Given the description of an element on the screen output the (x, y) to click on. 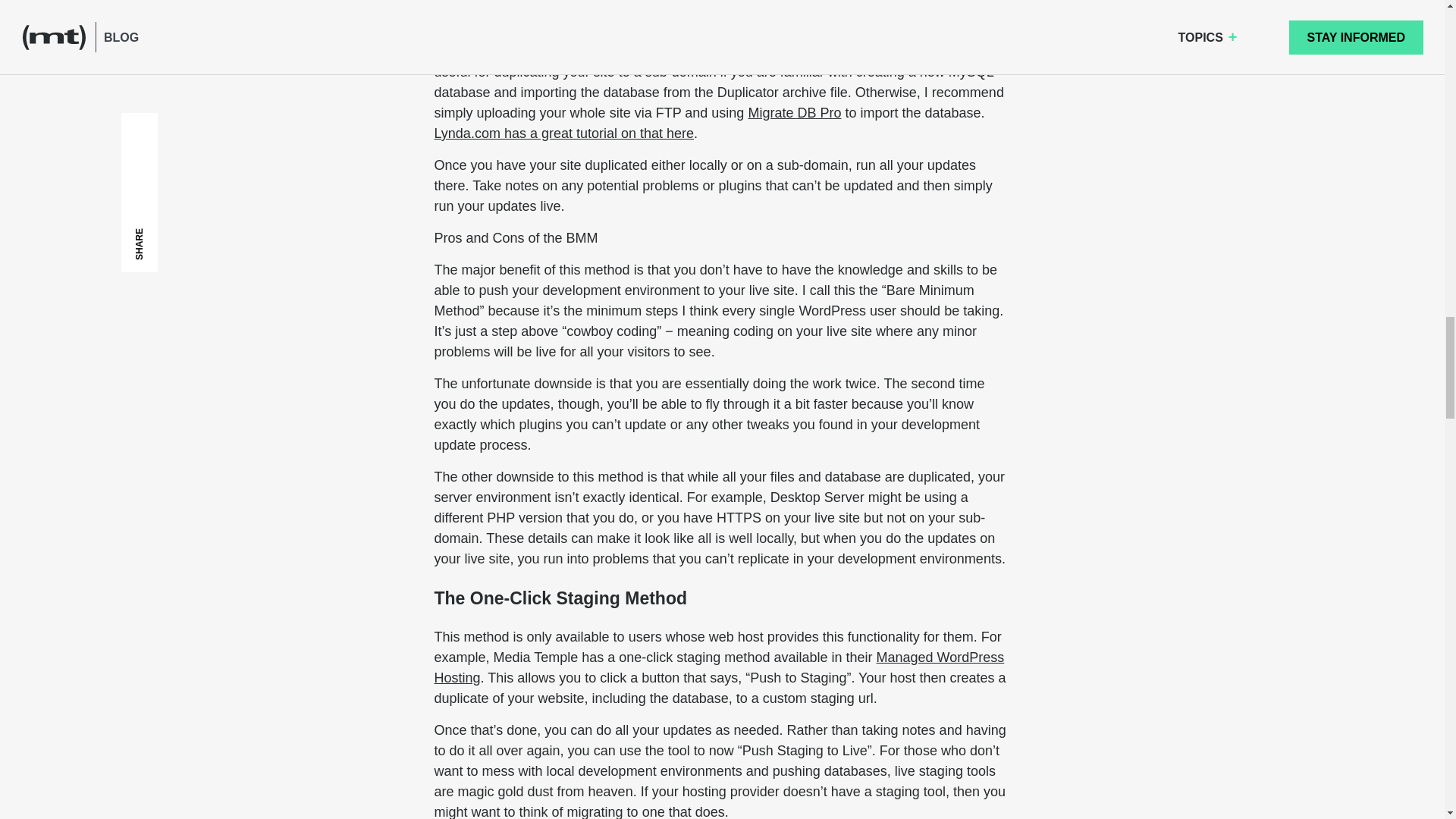
Managed WordPress Hosting (718, 667)
full tutorial on that here (820, 3)
Lynda.com has a great tutorial on that here (563, 133)
Migrate DB Pro (794, 112)
